Given the description of an element on the screen output the (x, y) to click on. 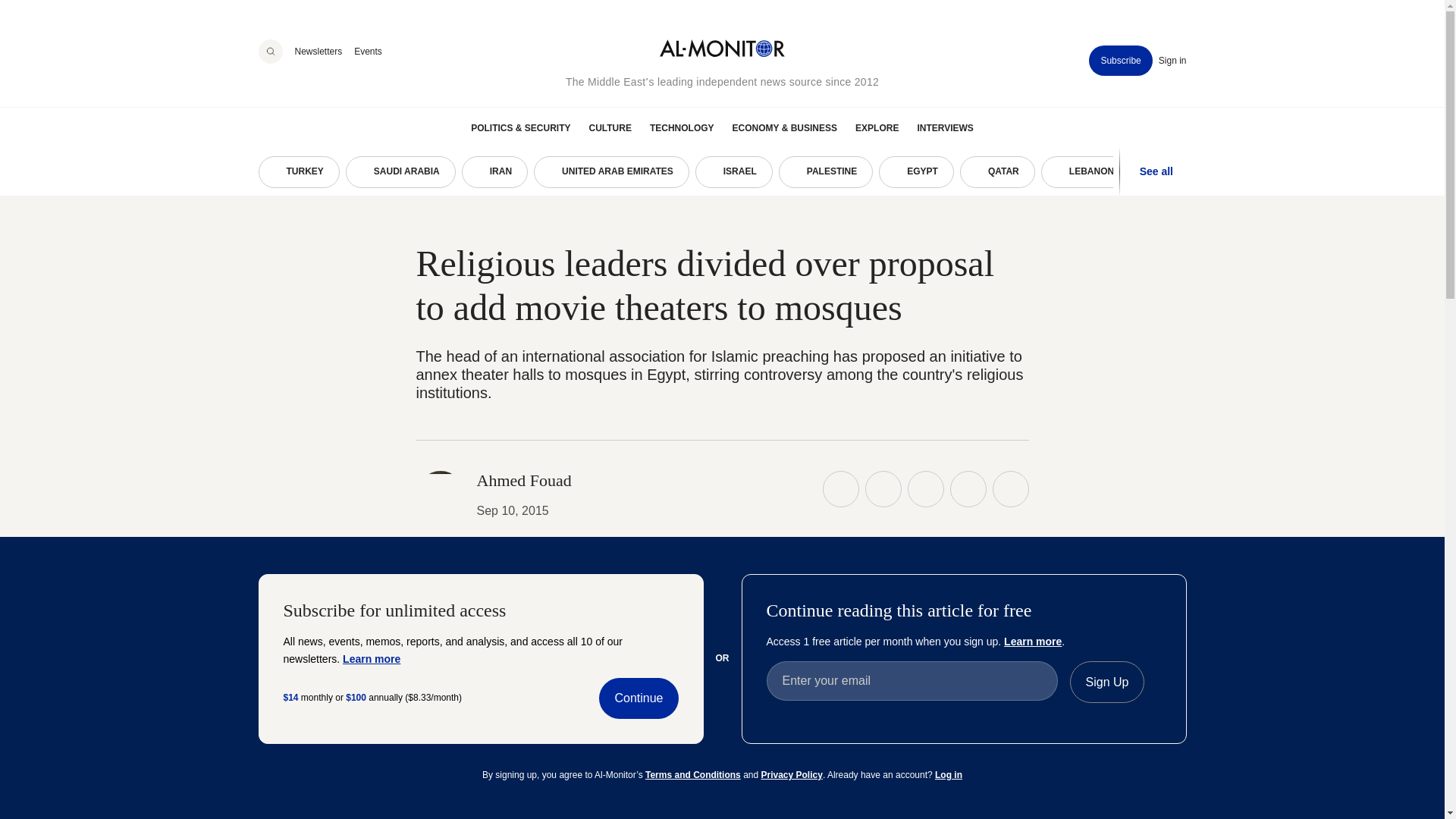
QATAR (997, 172)
INTERVIEWS (944, 127)
Events (367, 51)
Subscribe (1120, 60)
EXPLORE (877, 127)
SYRIA (1249, 172)
UNITED ARAB EMIRATES (611, 172)
OMAN (1171, 172)
LEBANON (1085, 172)
Sign in (1172, 60)
